Given the description of an element on the screen output the (x, y) to click on. 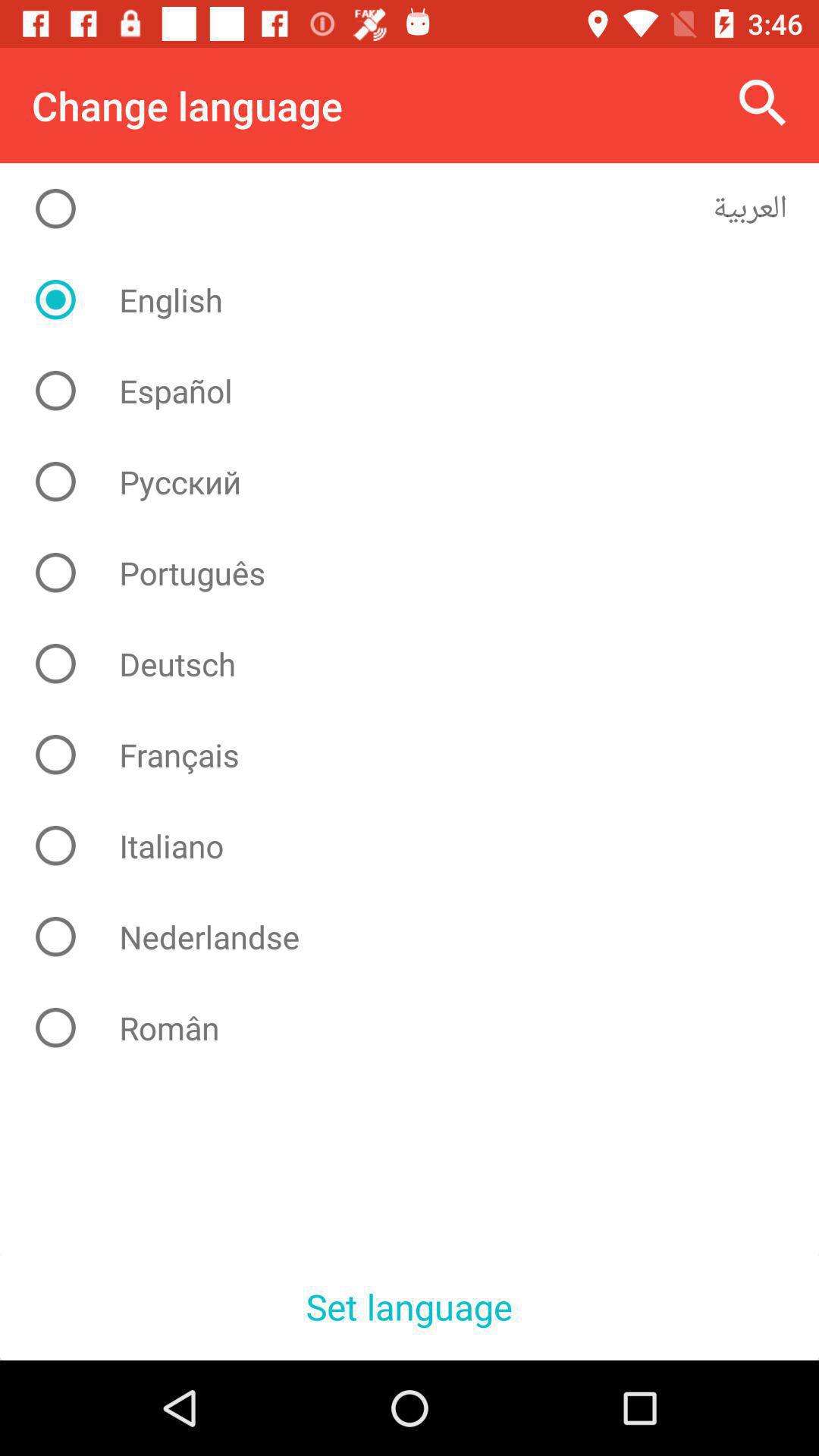
press the item above nederlandse (421, 845)
